Given the description of an element on the screen output the (x, y) to click on. 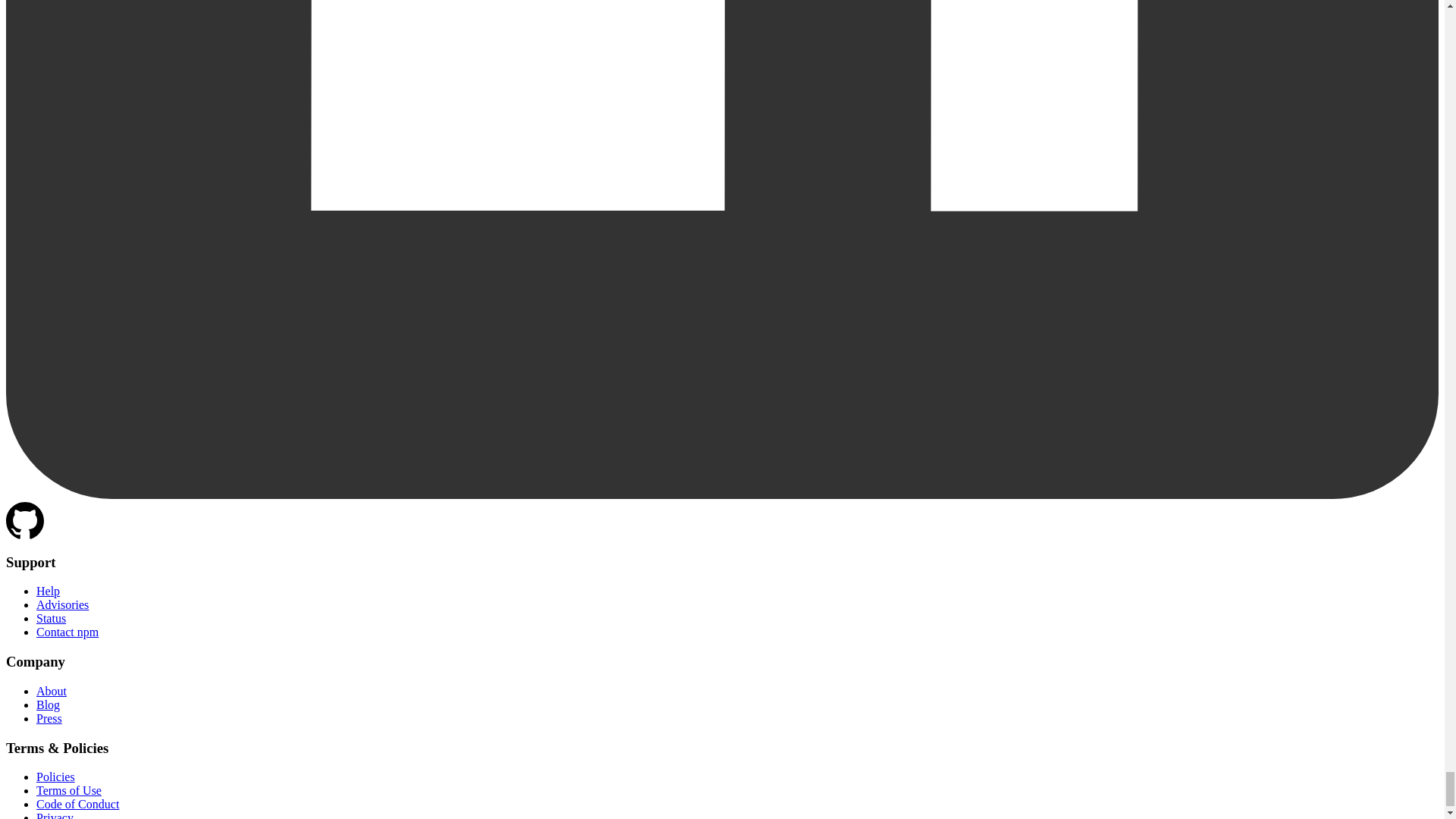
Help (47, 590)
About (51, 690)
Contact npm (67, 631)
Blog (47, 704)
Advisories (62, 604)
Status (50, 617)
